Given the description of an element on the screen output the (x, y) to click on. 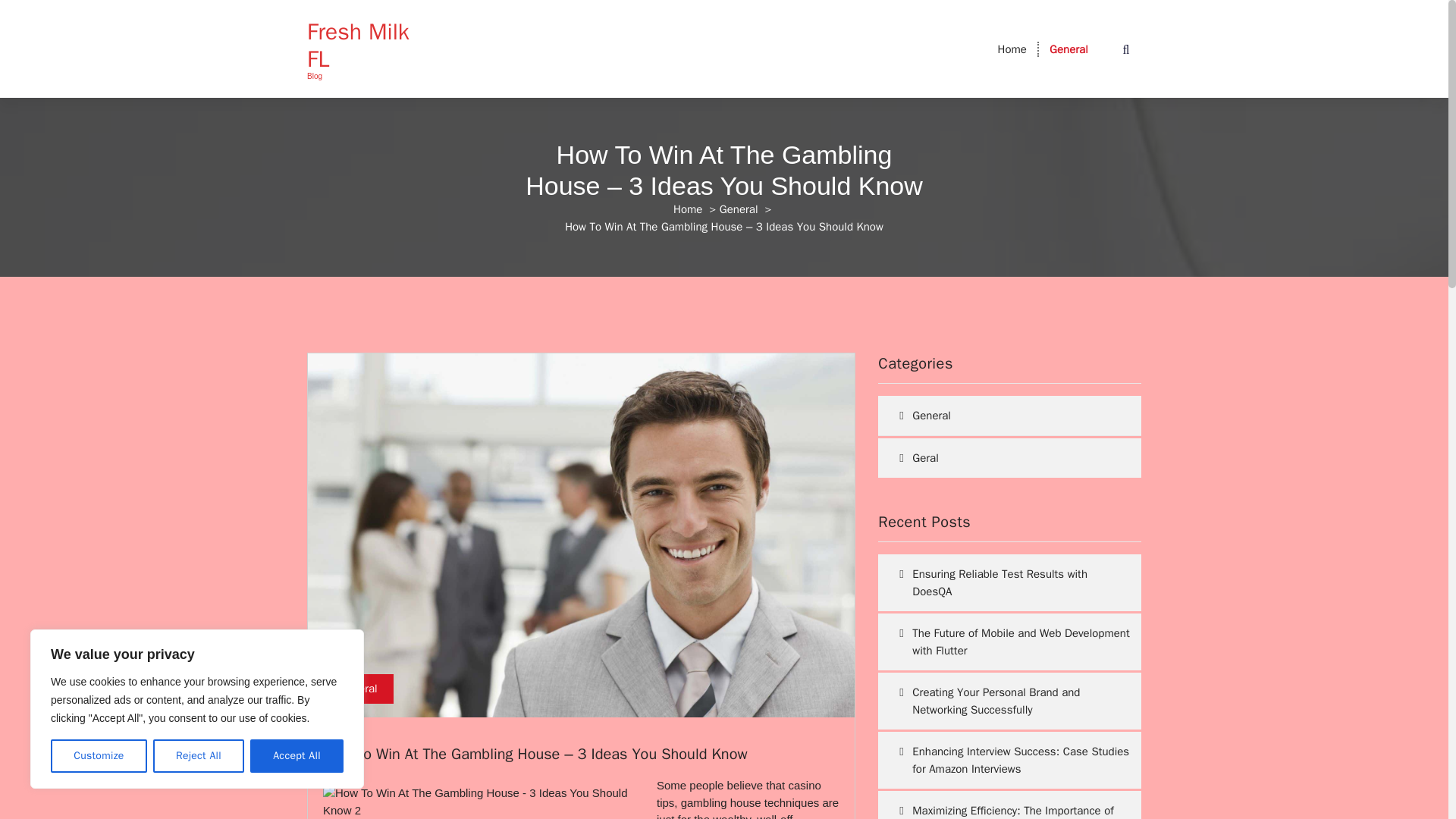
Customize (98, 756)
Accept All (296, 756)
Home (686, 209)
General (358, 689)
Home (1012, 49)
General (1068, 49)
General (738, 209)
Home (1012, 49)
Reject All (198, 756)
Fresh Milk FL (366, 45)
General (1068, 49)
